Given the description of an element on the screen output the (x, y) to click on. 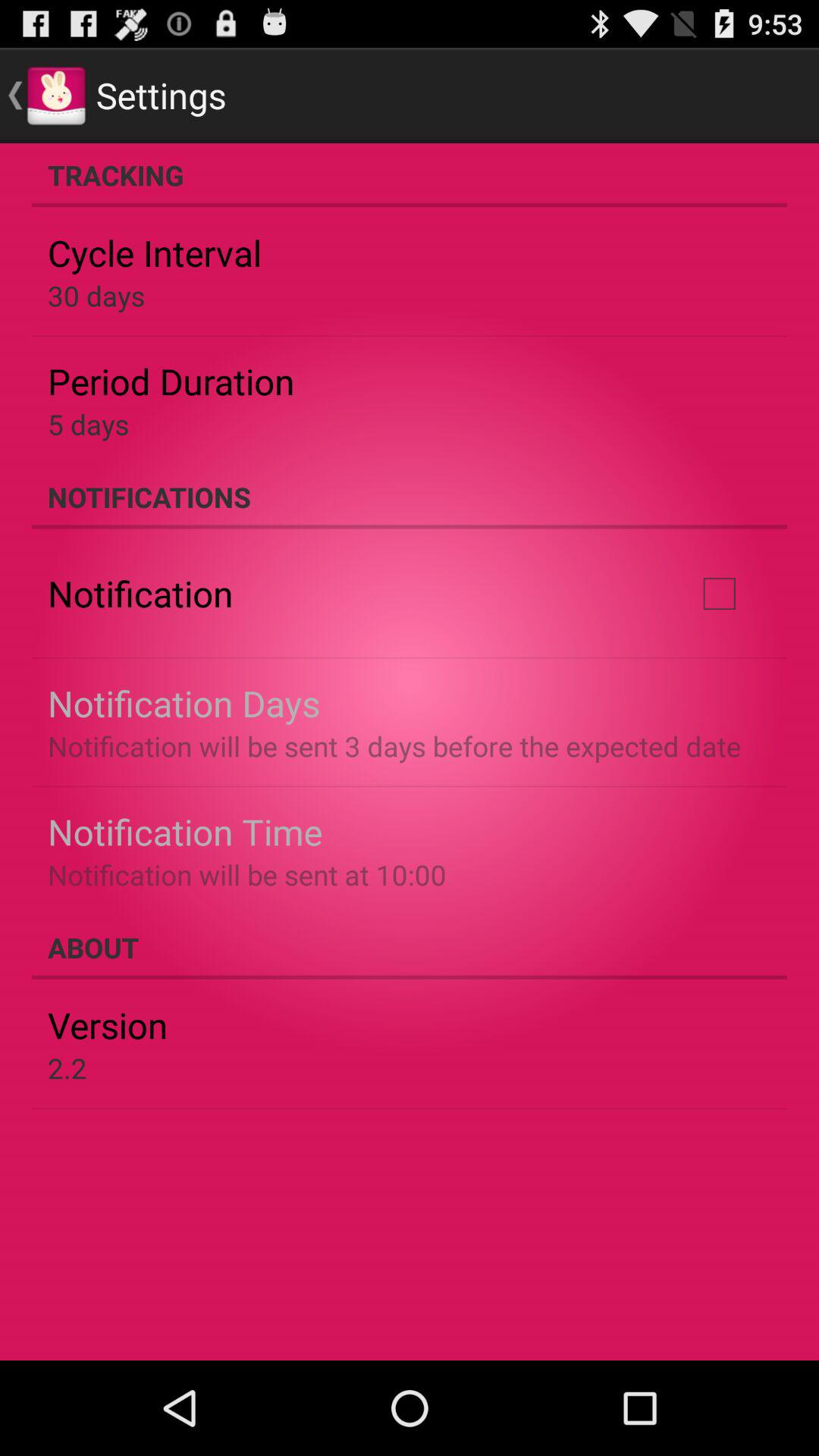
turn on item below the about app (107, 1025)
